Given the description of an element on the screen output the (x, y) to click on. 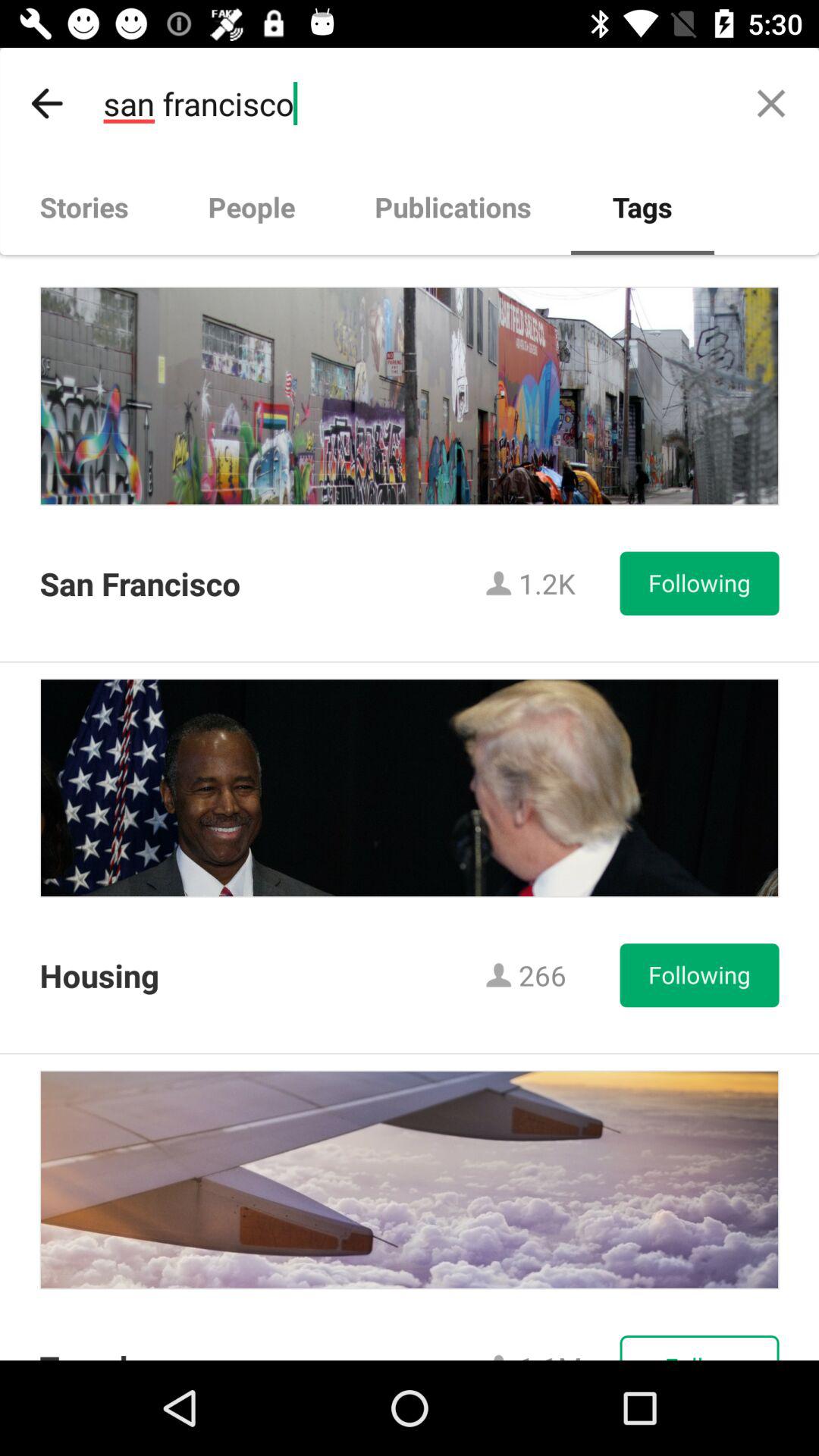
select item next to the san francisco (771, 103)
